Given the description of an element on the screen output the (x, y) to click on. 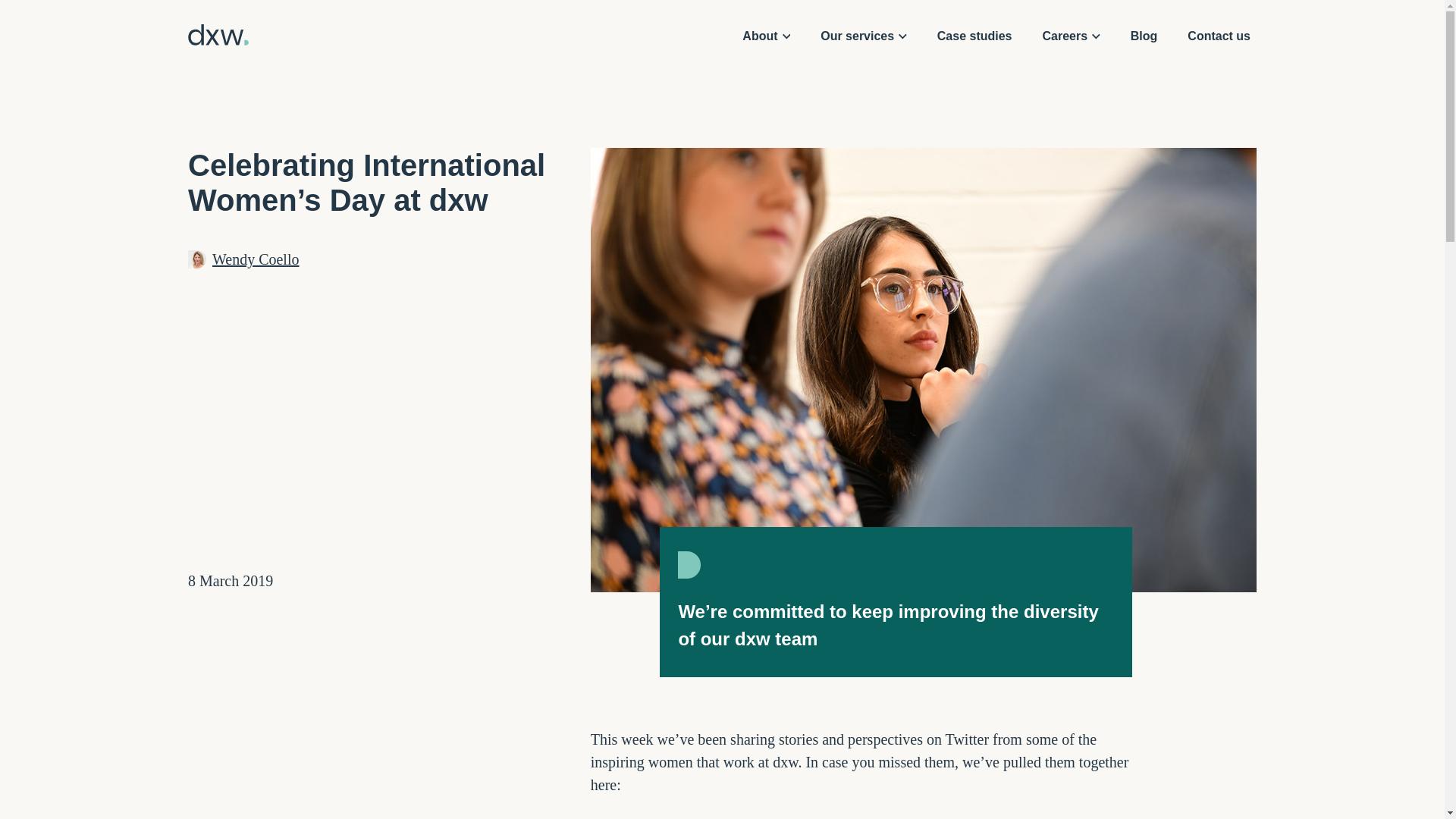
Wendy Coello (255, 258)
Our services (862, 36)
Contact us (1218, 36)
Posts by Wendy Coello (255, 258)
Careers (1071, 36)
About (766, 36)
Blog (1143, 36)
Case studies (974, 36)
